Given the description of an element on the screen output the (x, y) to click on. 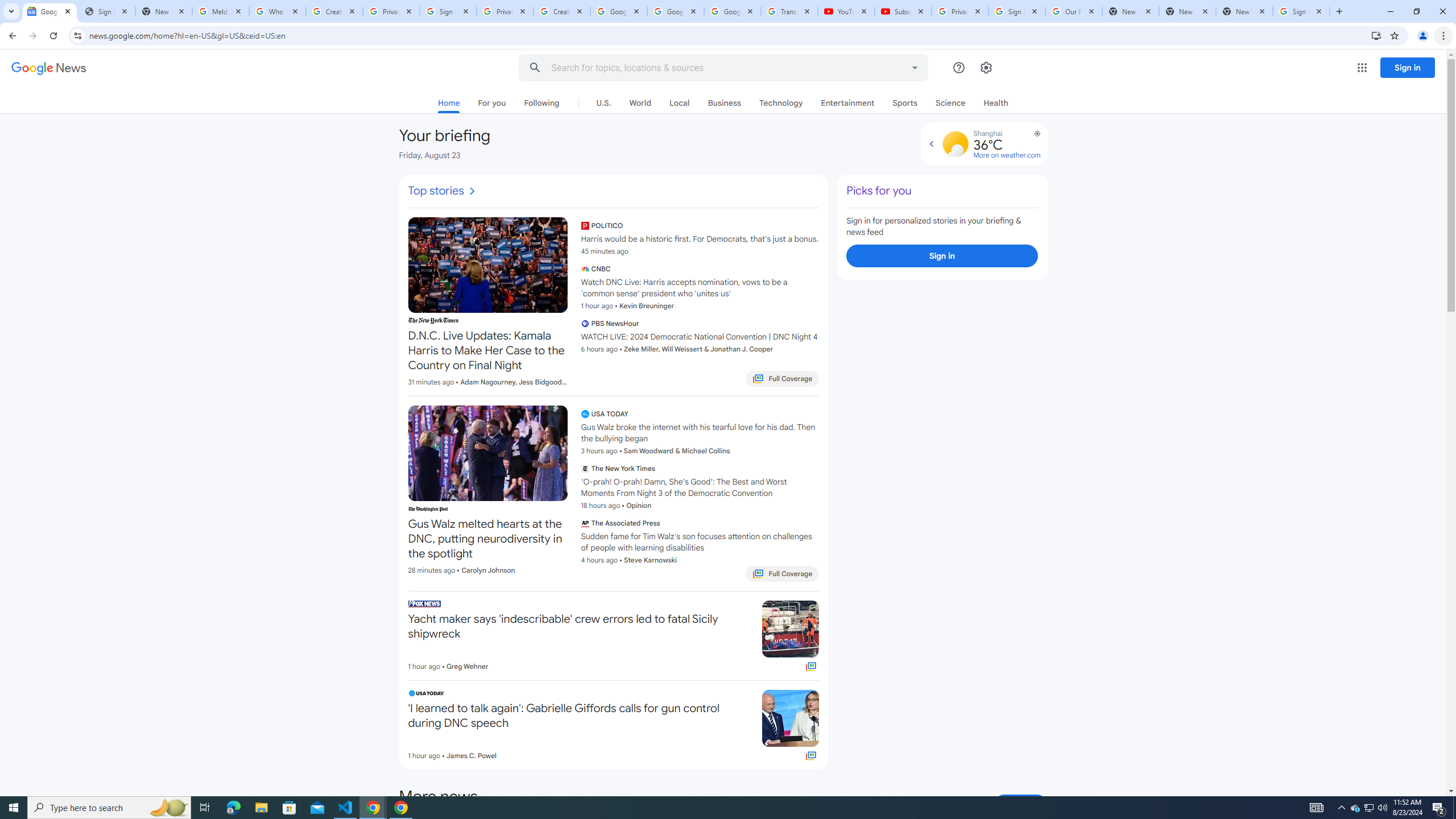
Google News (48, 68)
Use precise location (1031, 138)
World (639, 102)
YouTube (845, 11)
New Tab (1244, 11)
Sign in - Google Accounts (447, 11)
Entertainment (848, 102)
